Given the description of an element on the screen output the (x, y) to click on. 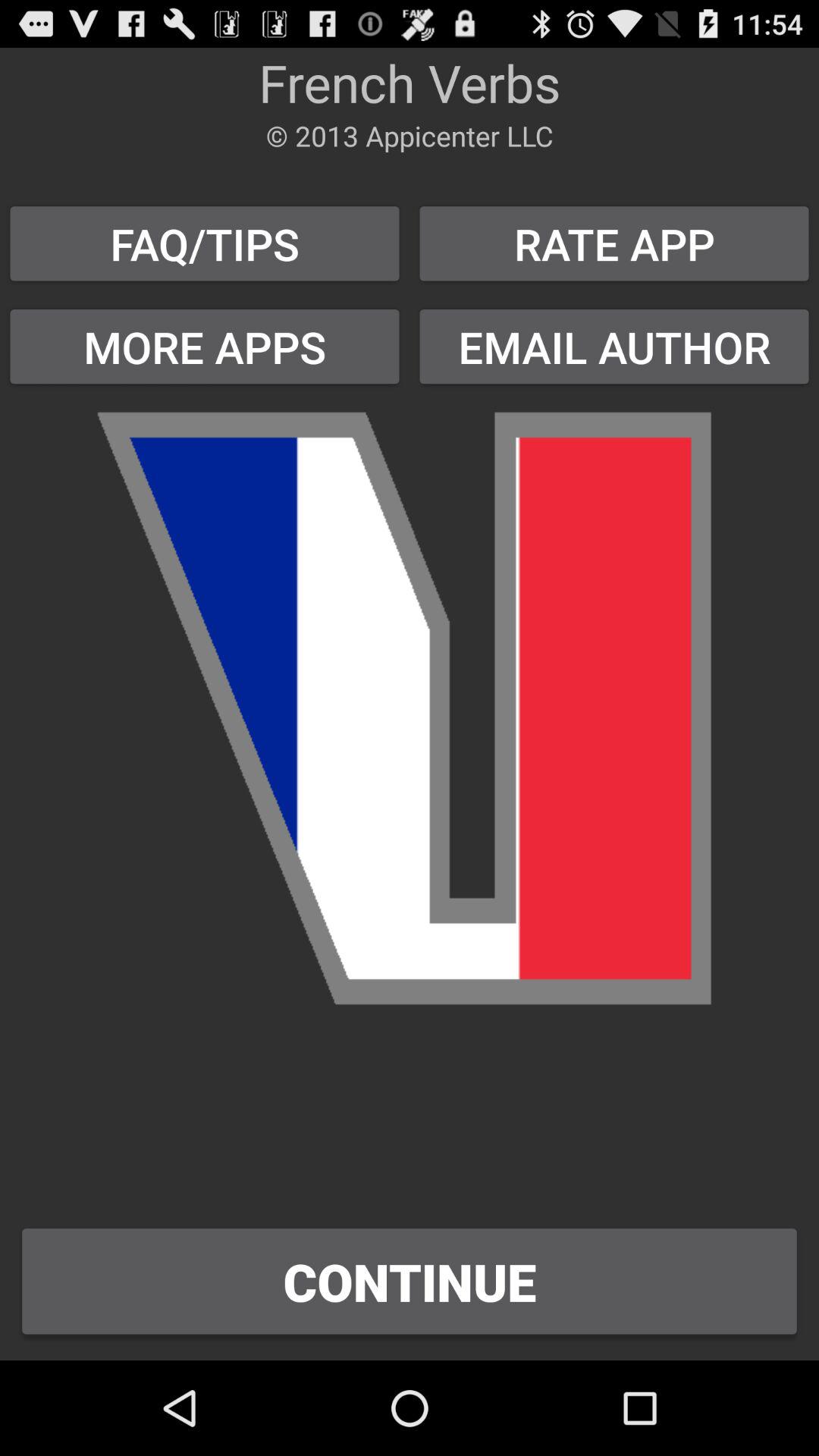
launch the faq/tips (204, 243)
